Given the description of an element on the screen output the (x, y) to click on. 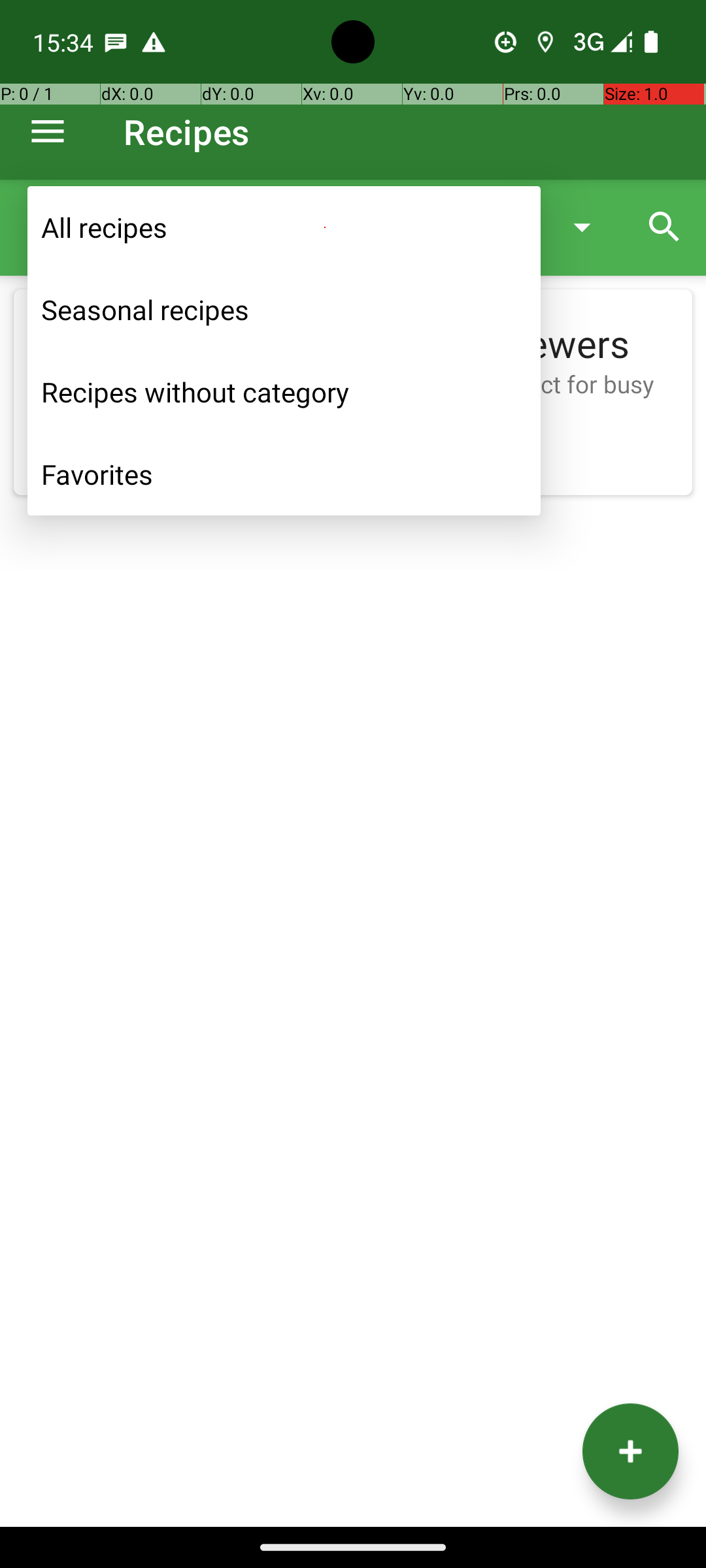
Seasonal recipes Element type: android.widget.CheckedTextView (283, 309)
Recipes without category Element type: android.widget.CheckedTextView (283, 391)
